Given the description of an element on the screen output the (x, y) to click on. 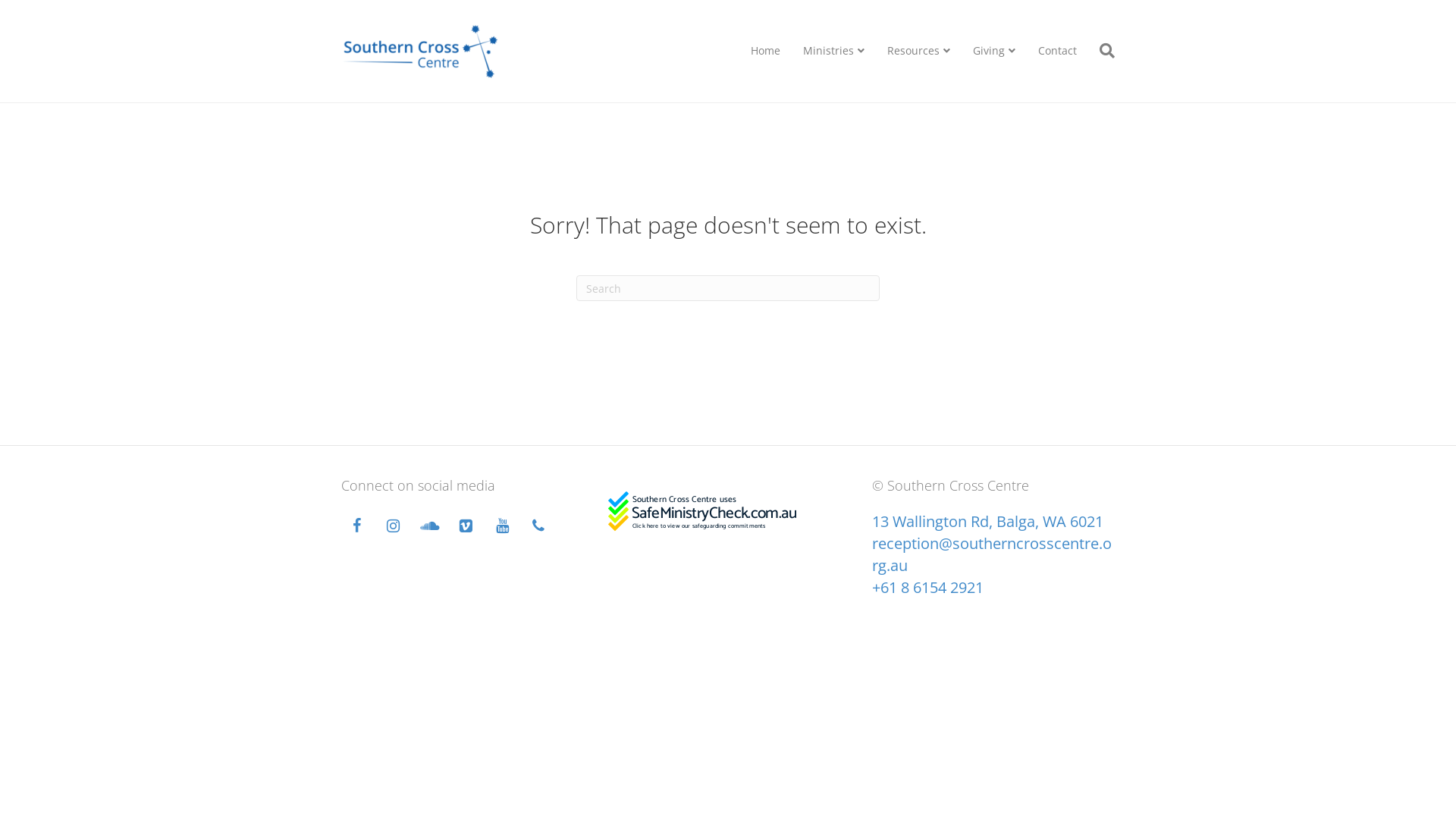
Resources Element type: text (918, 50)
Type and press Enter to search. Element type: hover (727, 288)
Home Element type: text (765, 50)
+61 8 6154 2921 Element type: text (927, 587)
Contact Element type: text (1057, 50)
Giving Element type: text (993, 50)
13 Wallington Rd, Balga, WA 6021 Element type: text (987, 521)
reception@southerncrosscentre.org.au Element type: text (991, 554)
Ministries Element type: text (833, 50)
